Given the description of an element on the screen output the (x, y) to click on. 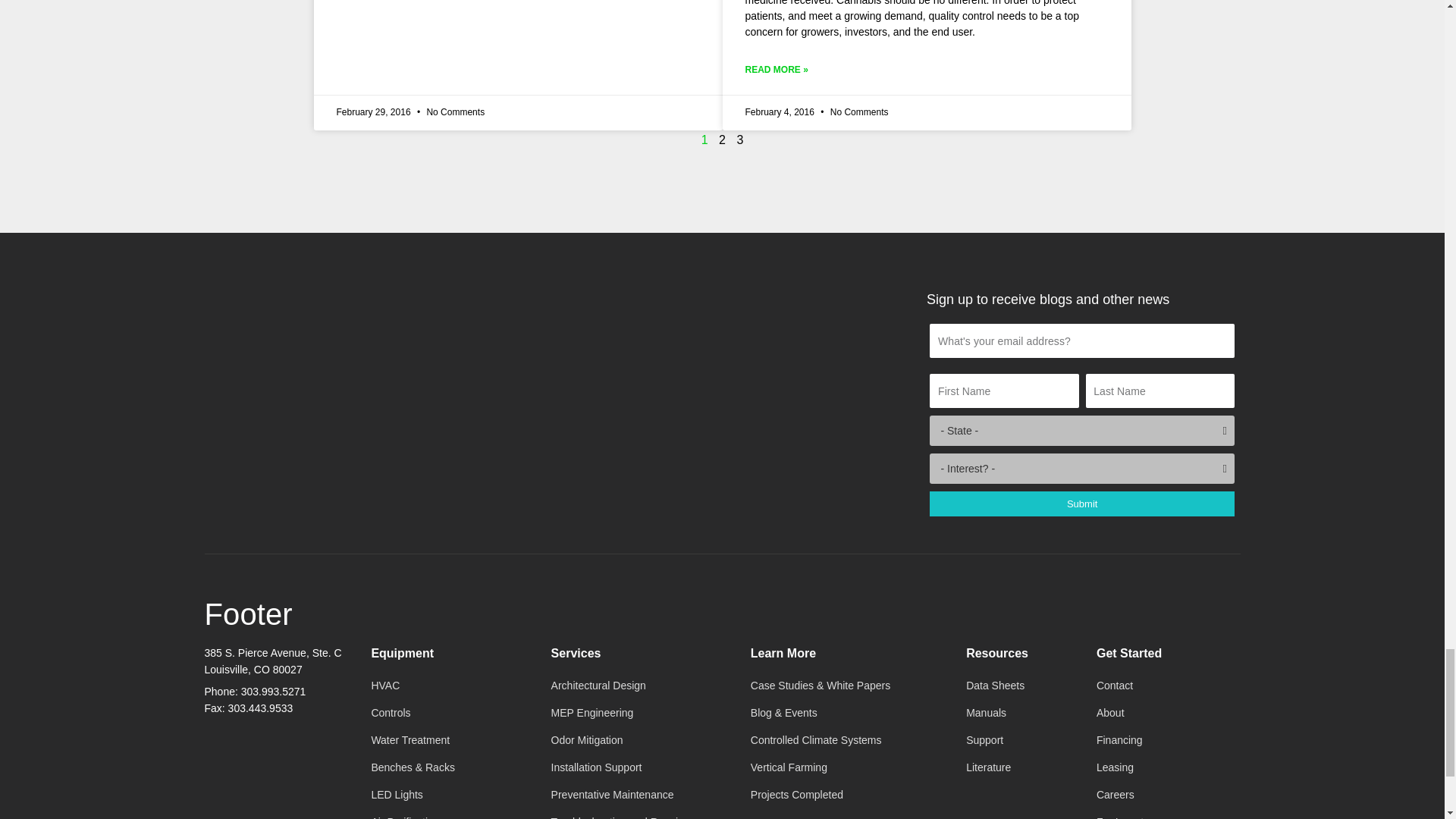
Surna Corporate Office (275, 770)
